Given the description of an element on the screen output the (x, y) to click on. 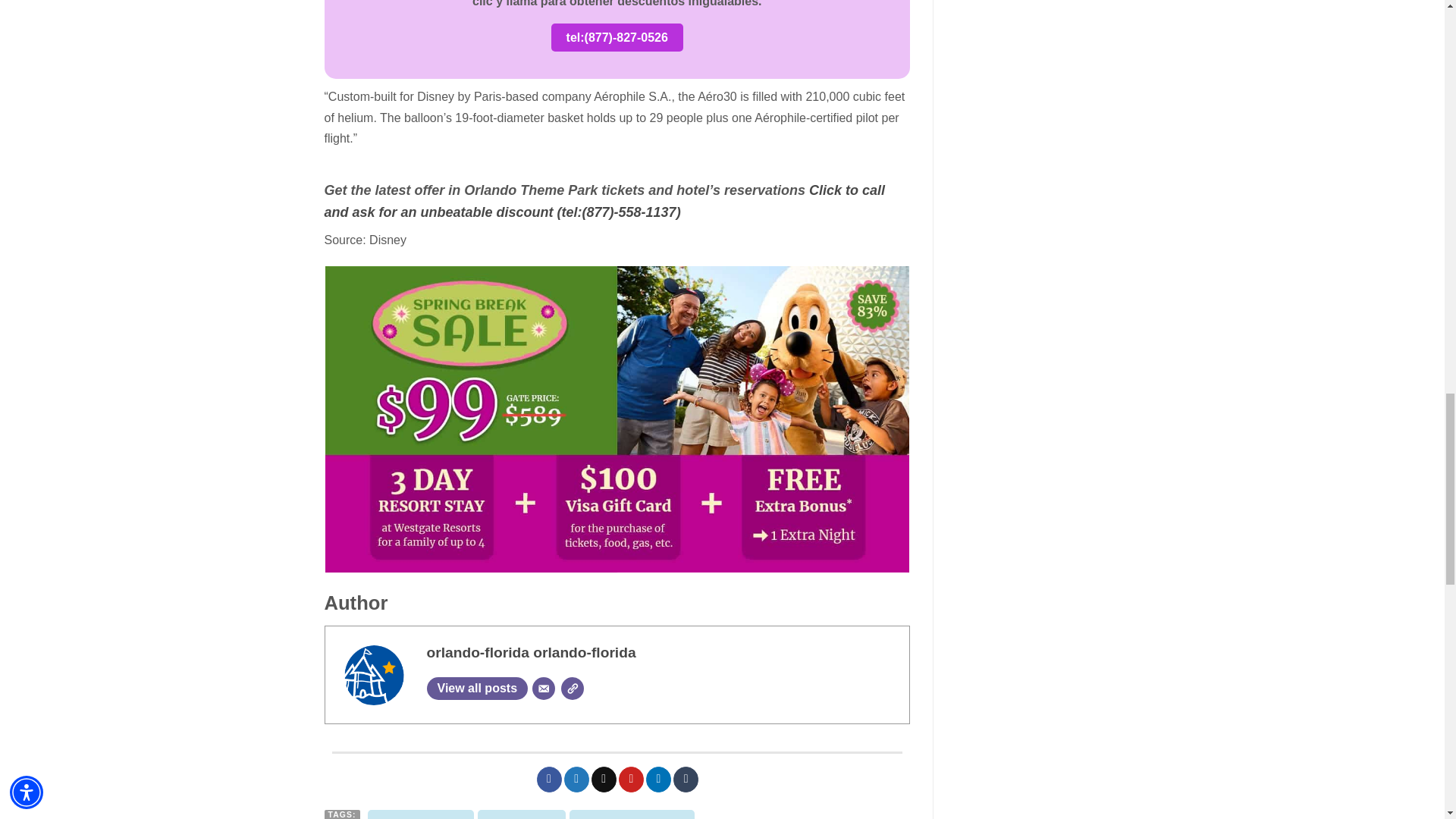
orlando-florida orlando-florida (530, 652)
Share on Twitter (576, 779)
Share on LinkedIn (658, 779)
Pin on Pinterest (630, 779)
View all posts (476, 688)
Email to a Friend (603, 779)
Share on Facebook (549, 779)
